Given the description of an element on the screen output the (x, y) to click on. 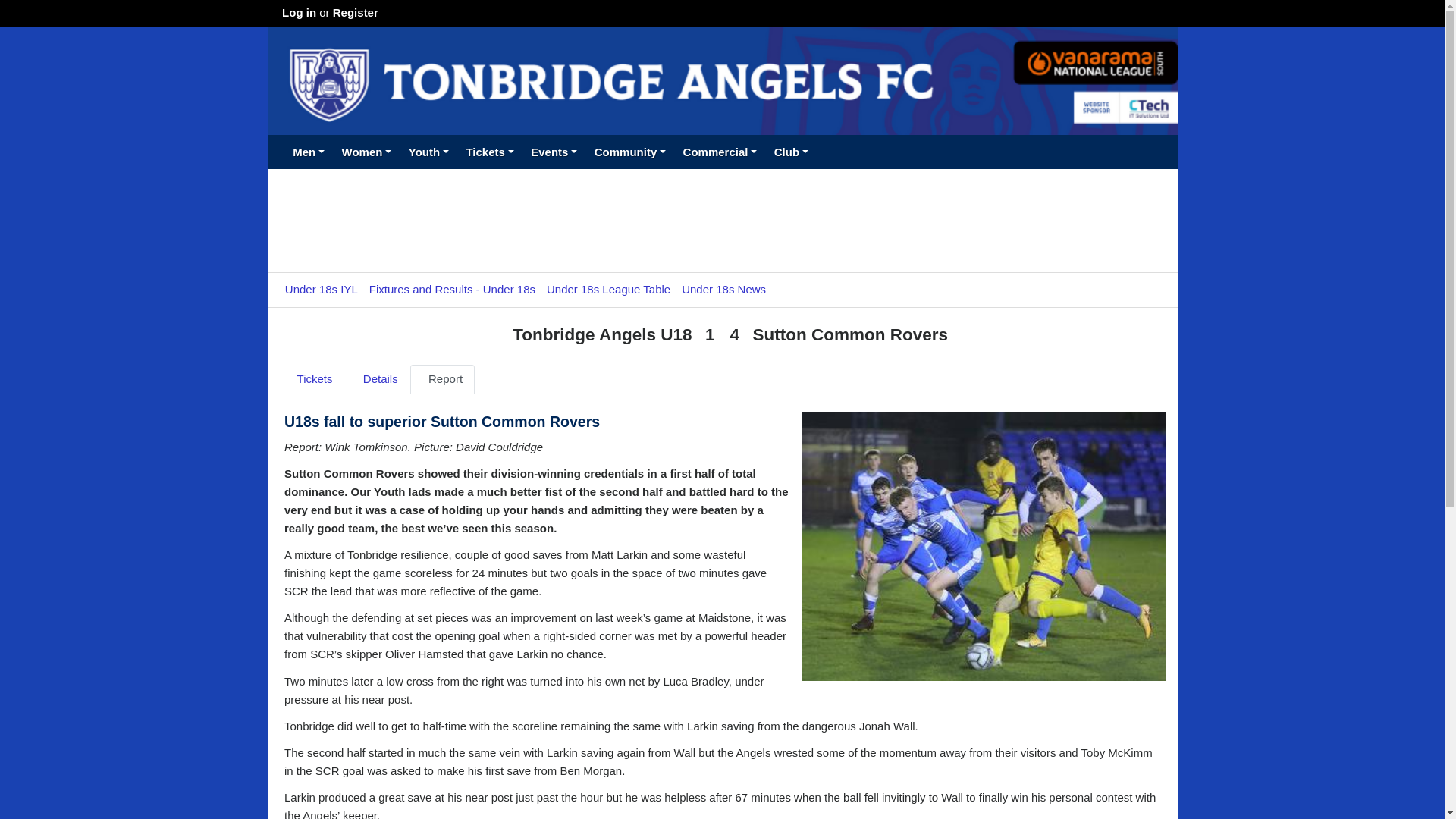
Events (554, 151)
Men (308, 151)
Youth (429, 151)
Youth (429, 151)
Women (365, 151)
Log in (298, 11)
Home (274, 143)
Tickets (489, 151)
Register (355, 11)
Community (629, 151)
